Given the description of an element on the screen output the (x, y) to click on. 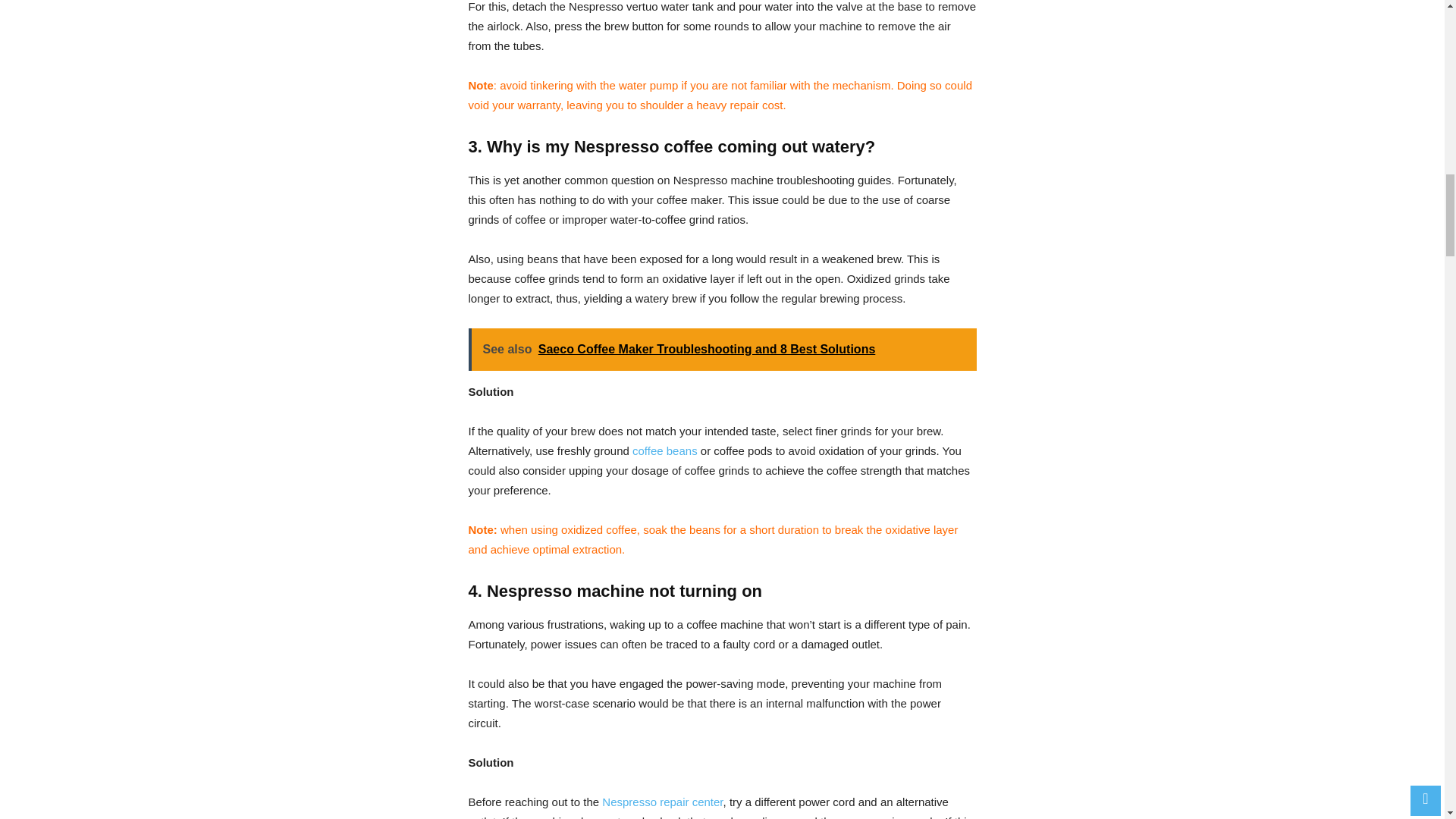
Nespresso repair center (662, 801)
coffee beans (664, 450)
